Given the description of an element on the screen output the (x, y) to click on. 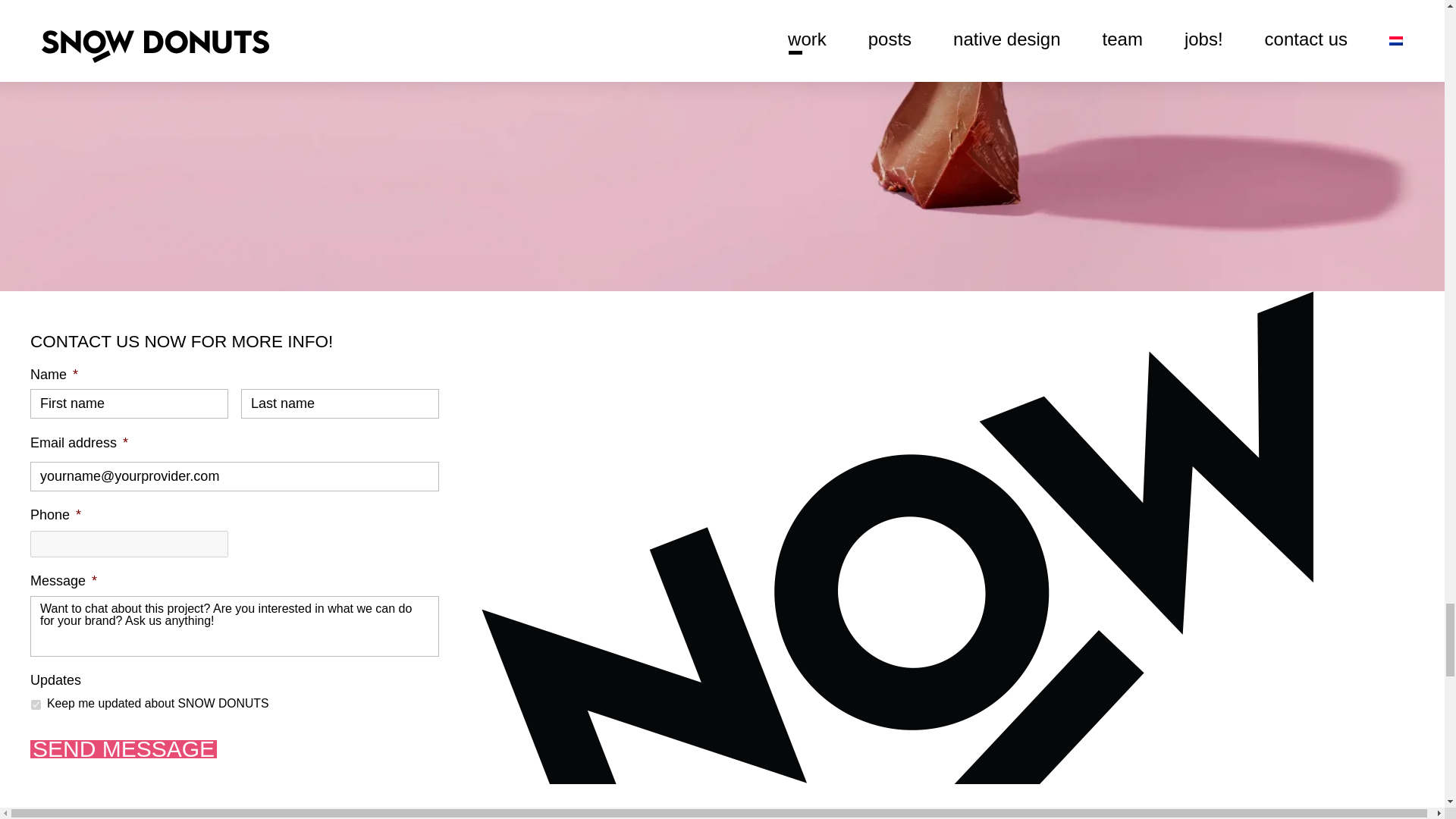
Keep me updated about SNOW DONUTS (35, 705)
Send Message (123, 749)
Send Message (123, 749)
